Given the description of an element on the screen output the (x, y) to click on. 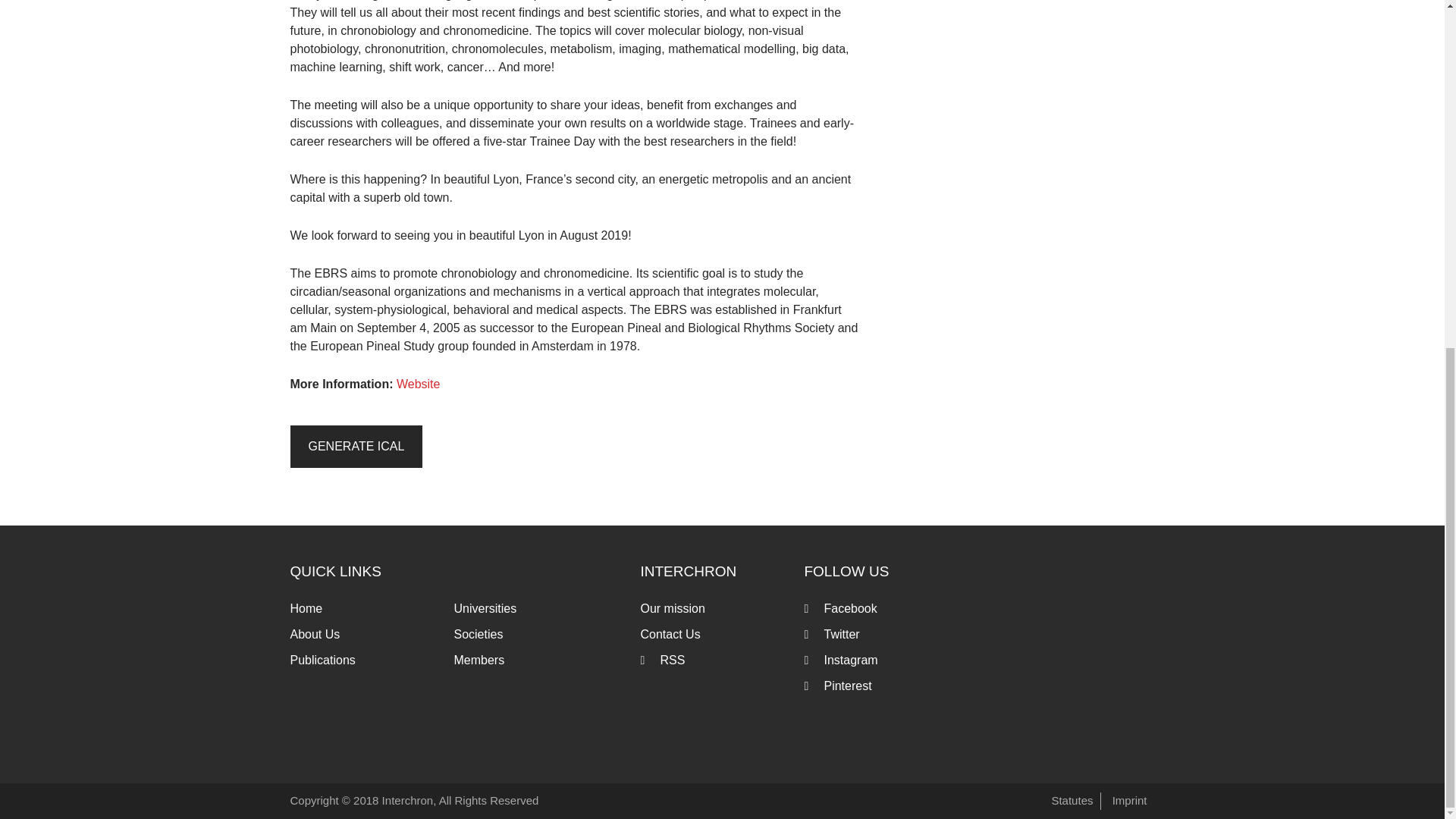
Instagram (850, 659)
Our mission (672, 608)
RSS (671, 659)
Pinterest (847, 685)
Statutes (1072, 799)
Generate iCal (355, 446)
Societies (477, 634)
Universities (484, 608)
Members (477, 659)
Home (305, 608)
